Given the description of an element on the screen output the (x, y) to click on. 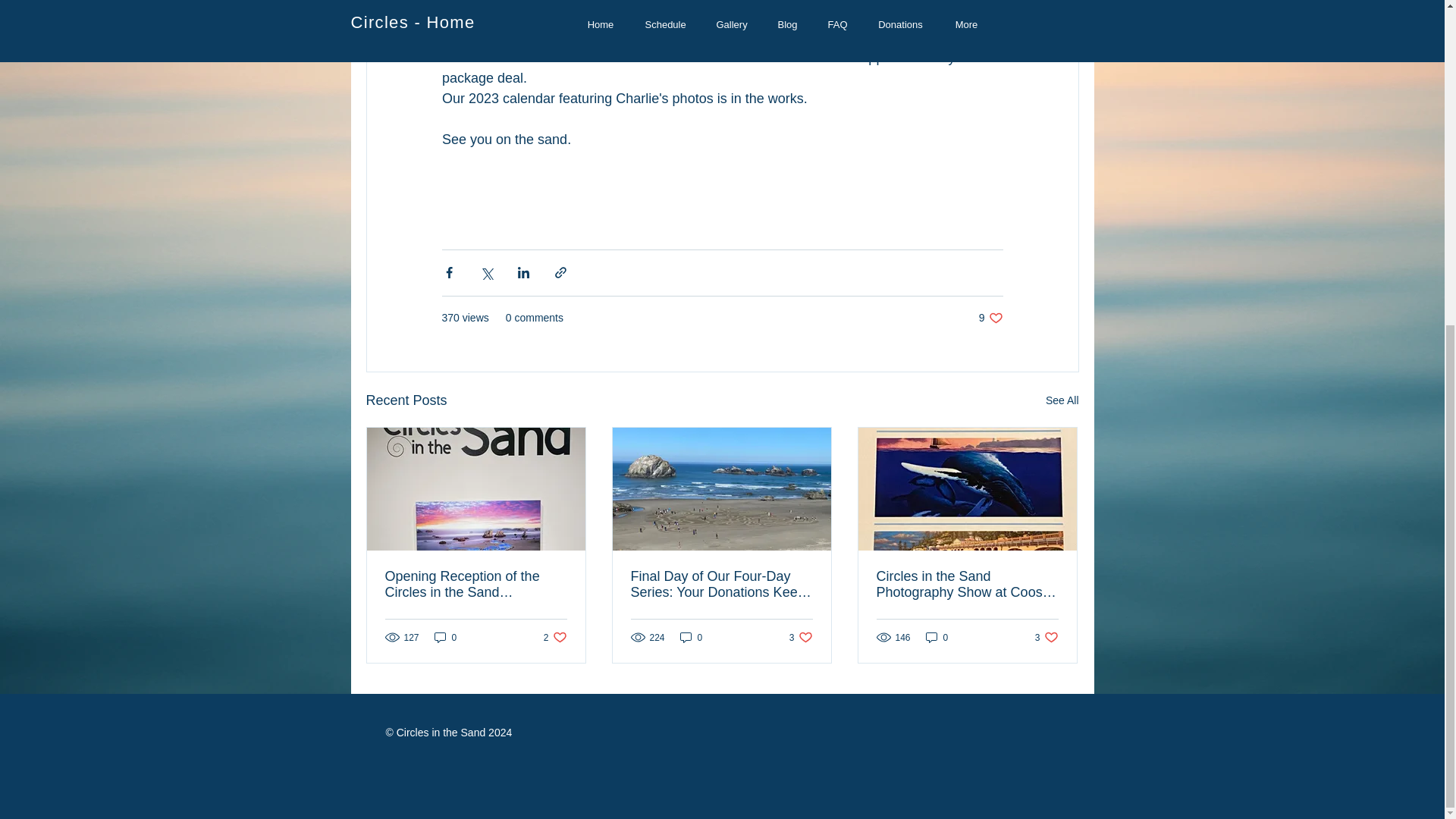
0 (691, 636)
See All (1061, 400)
0 (1046, 636)
0 (937, 636)
Circles in the Sand Photography Show at Coos Art Museum (445, 636)
